Given the description of an element on the screen output the (x, y) to click on. 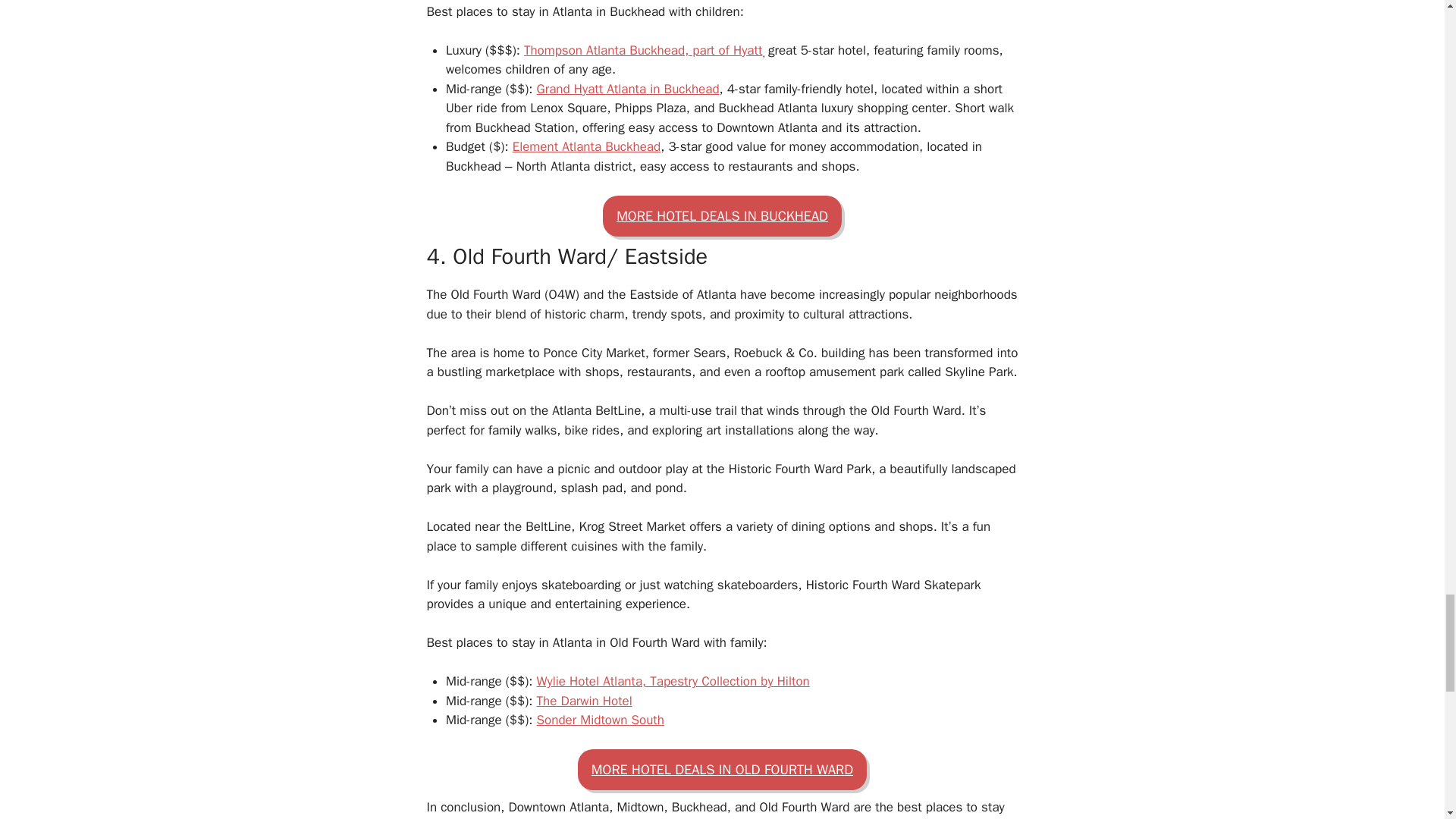
Grand Hyatt Atlanta in Buckhead (628, 89)
Sonder Midtown South (600, 719)
MORE HOTEL DEALS IN OLD FOURTH WARD (722, 769)
Element Atlanta Buckhead (586, 146)
MORE HOTEL DEALS IN BUCKHEAD (721, 215)
The Darwin Hotel (584, 700)
Thompson Atlanta Buckhead, part of Hyatt (642, 50)
Wylie Hotel Atlanta, Tapestry Collection by Hilton (673, 681)
